Given the description of an element on the screen output the (x, y) to click on. 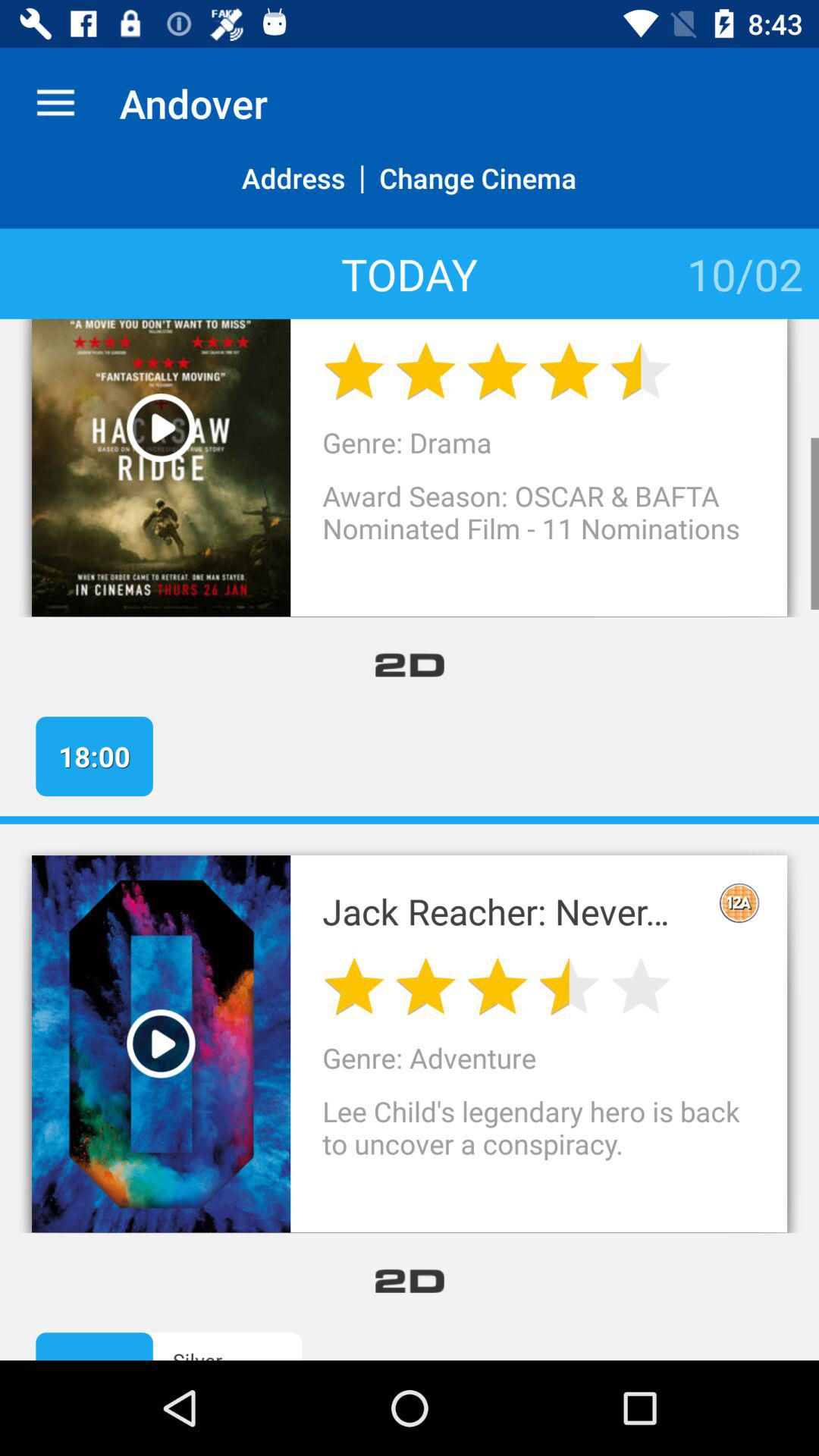
choose the item below 18:00 item (409, 820)
